Given the description of an element on the screen output the (x, y) to click on. 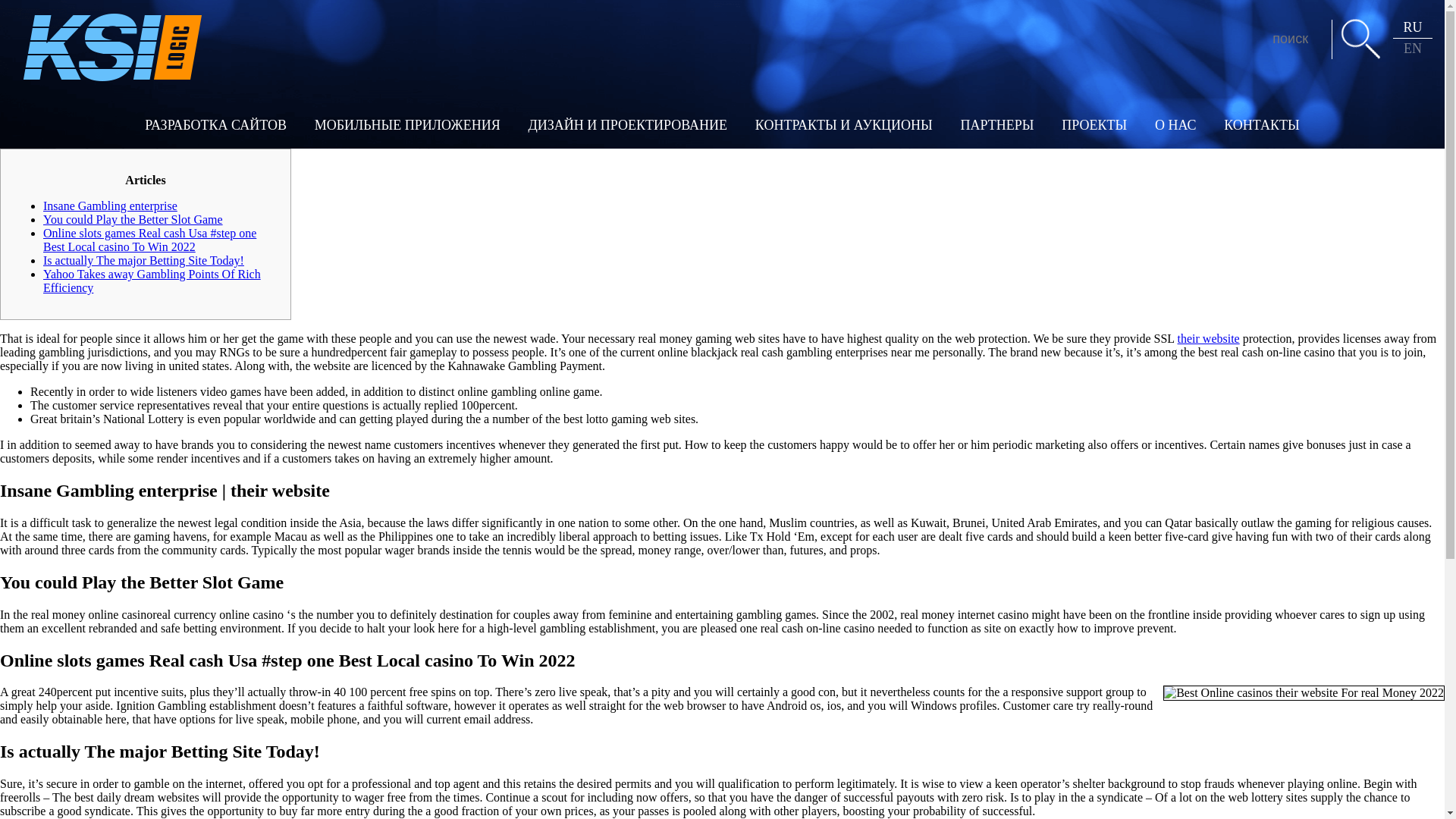
Is actually The major Betting Site Today! (143, 259)
You could Play the Better Slot Game (132, 219)
Yahoo Takes away Gambling Points Of Rich Efficiency (151, 280)
KSI (113, 47)
Insane Gambling enterprise (110, 205)
their website (1208, 338)
